Given the description of an element on the screen output the (x, y) to click on. 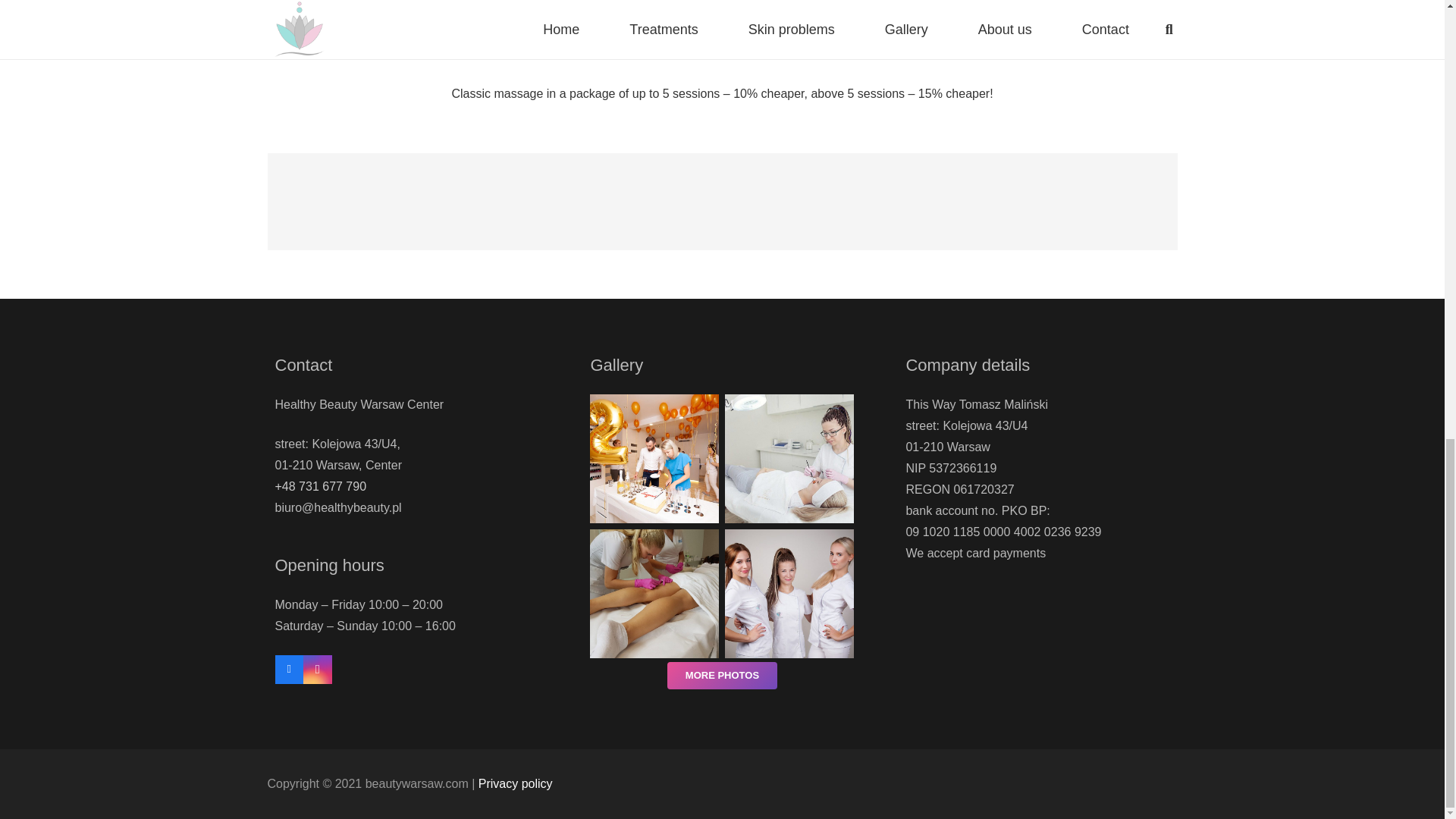
Instagram (316, 669)
Facebook (288, 669)
57 (654, 458)
1 (789, 593)
59 (789, 458)
6 (654, 593)
